Given the description of an element on the screen output the (x, y) to click on. 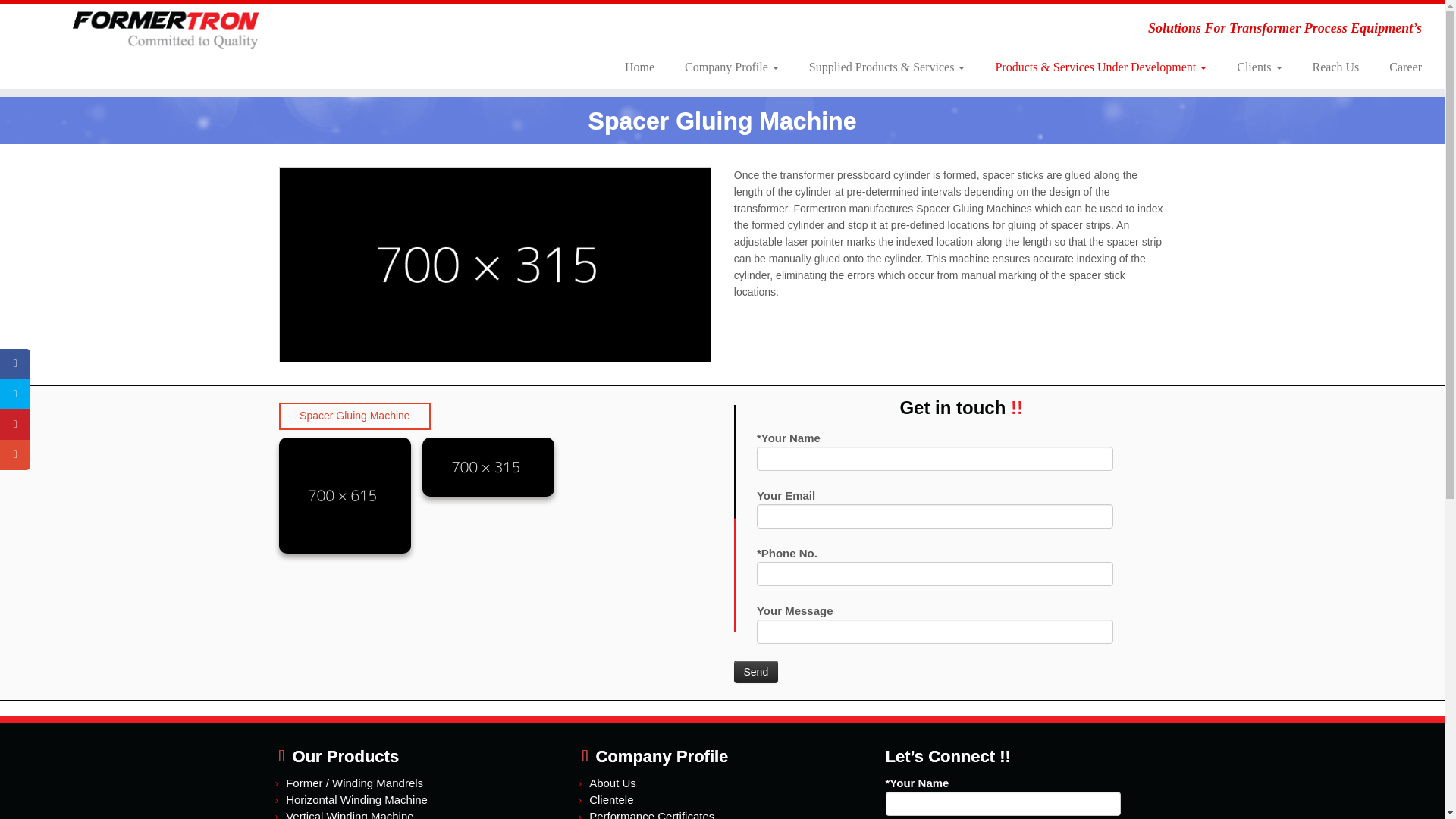
Career (1398, 67)
Clients (1259, 67)
Reach Us (1335, 67)
Home (639, 67)
Company Profile (731, 67)
Send (755, 671)
fff (344, 495)
